Given the description of an element on the screen output the (x, y) to click on. 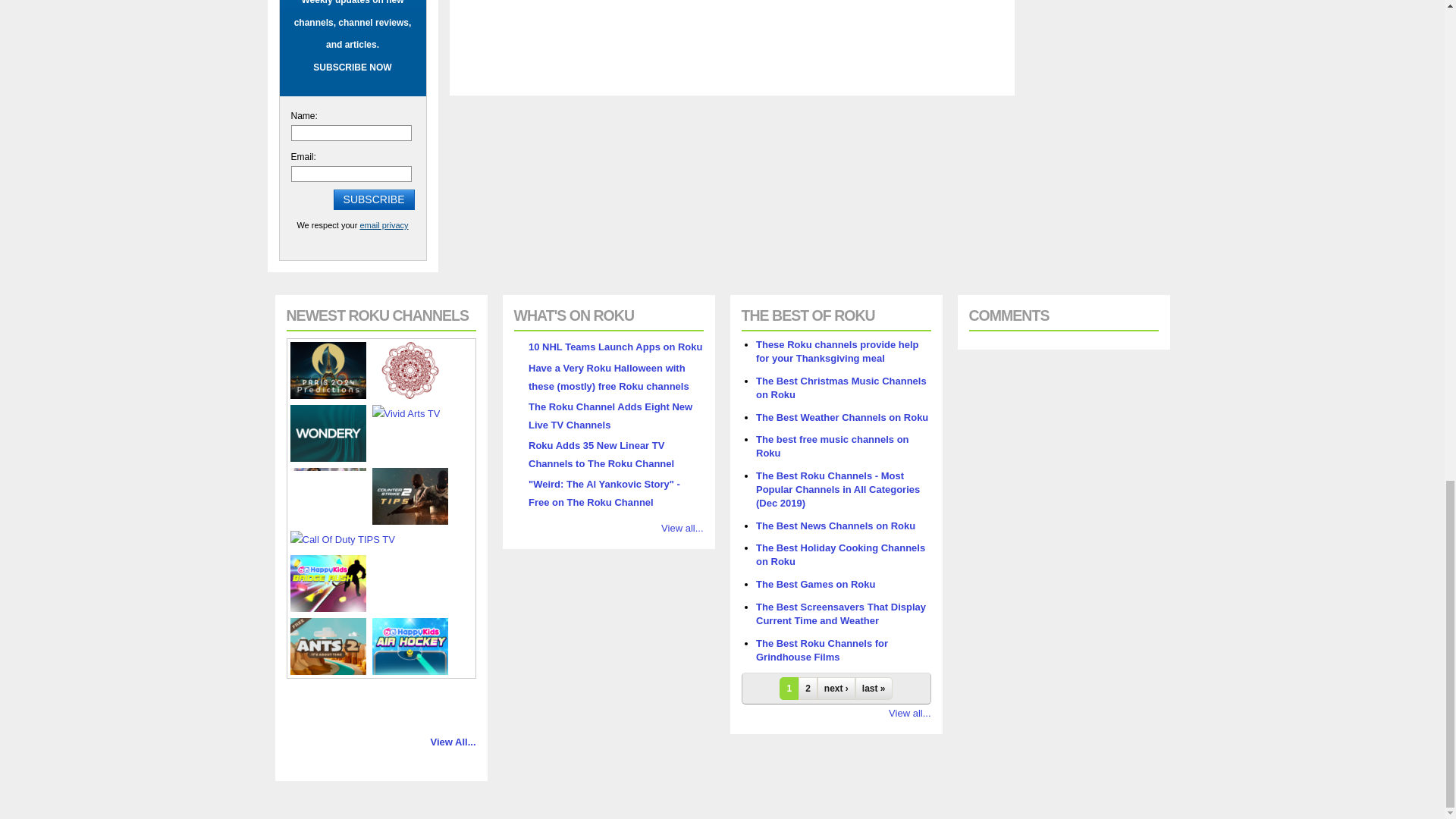
View All... (453, 741)
The Roku Channel Adds Eight New Live TV Channels (610, 415)
10 NHL Teams Launch Apps on Roku (614, 346)
email privacy (383, 225)
Subscribe (373, 199)
Go to last page (874, 688)
Privacy Policy (383, 225)
Subscribe (373, 199)
Go to next page (836, 688)
